Given the description of an element on the screen output the (x, y) to click on. 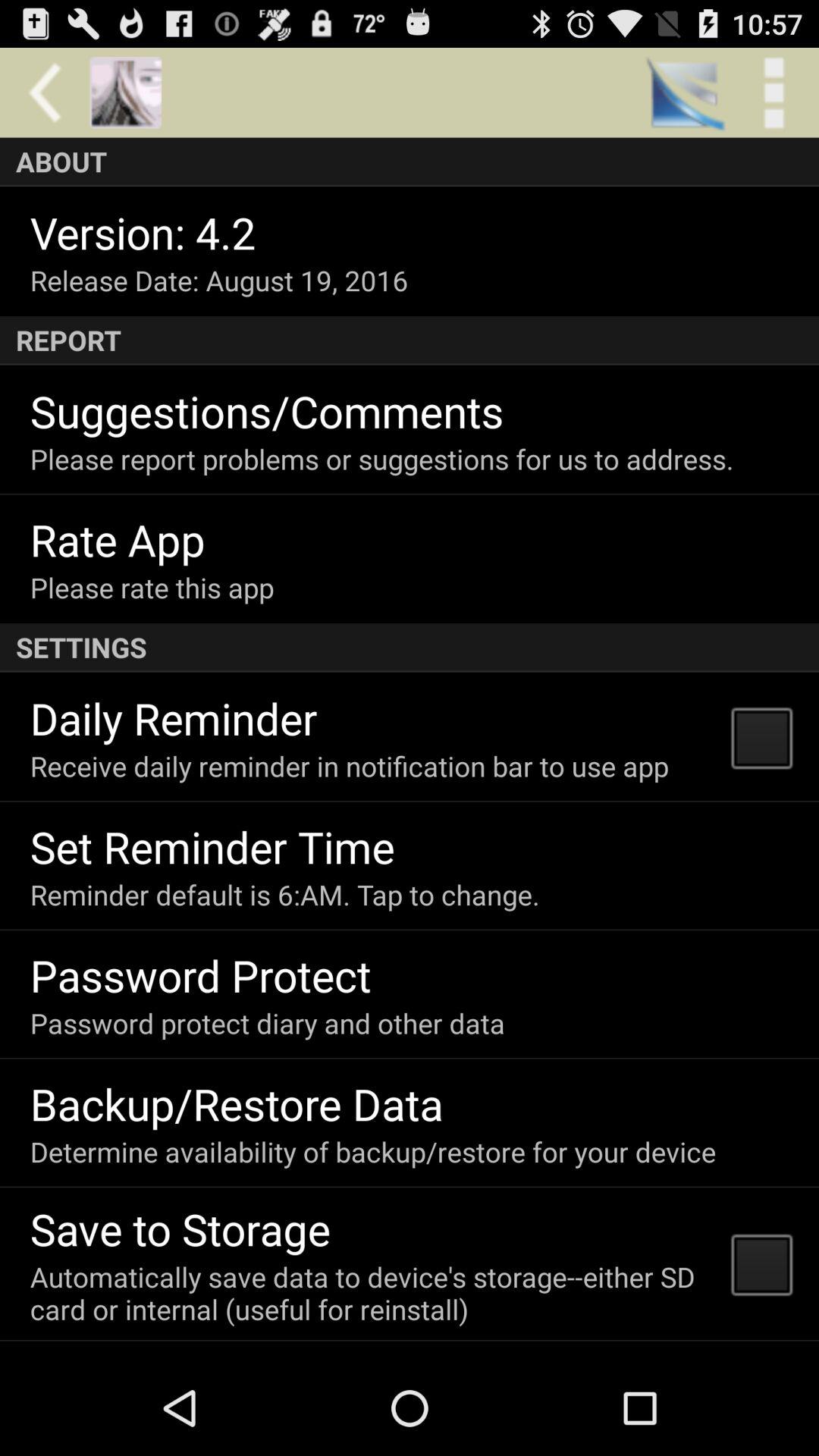
swipe until the please report problems (381, 458)
